Given the description of an element on the screen output the (x, y) to click on. 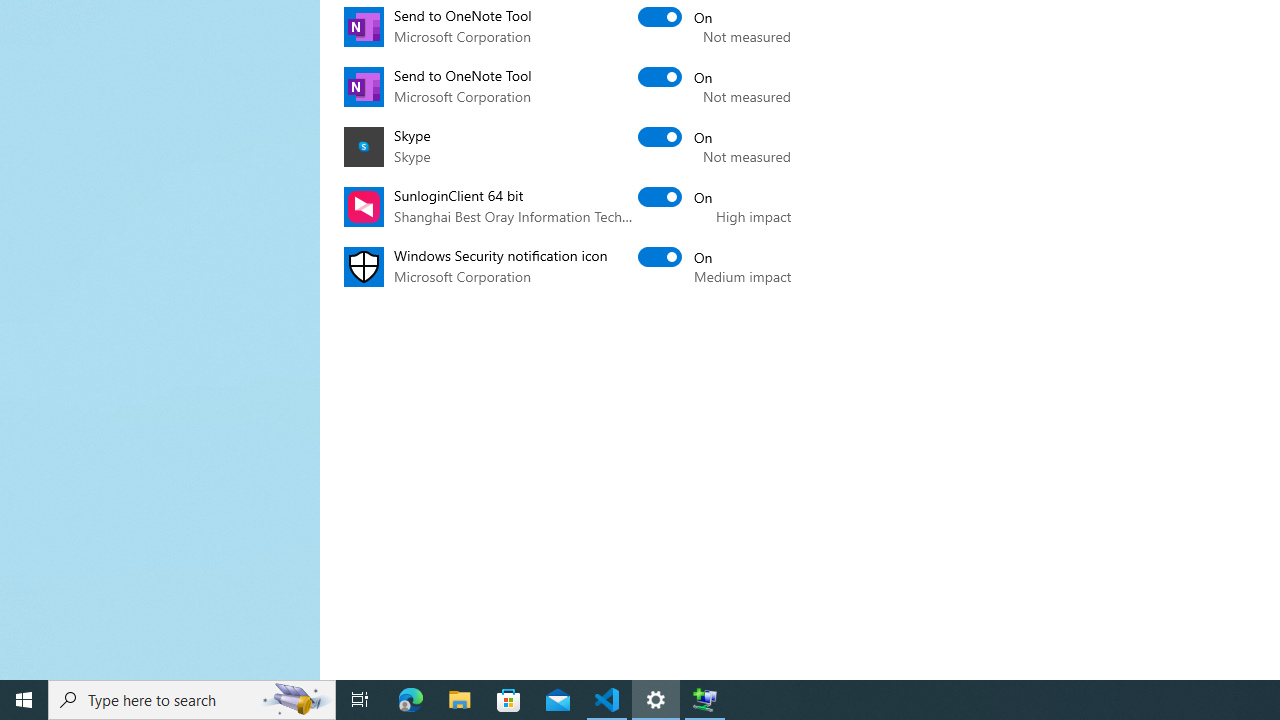
Windows Security notification icon (675, 256)
Send to OneNote Tool (675, 76)
SunloginClient 64 bit (675, 196)
Skype (675, 136)
Extensible Wizards Host Process - 1 running window (704, 699)
